Given the description of an element on the screen output the (x, y) to click on. 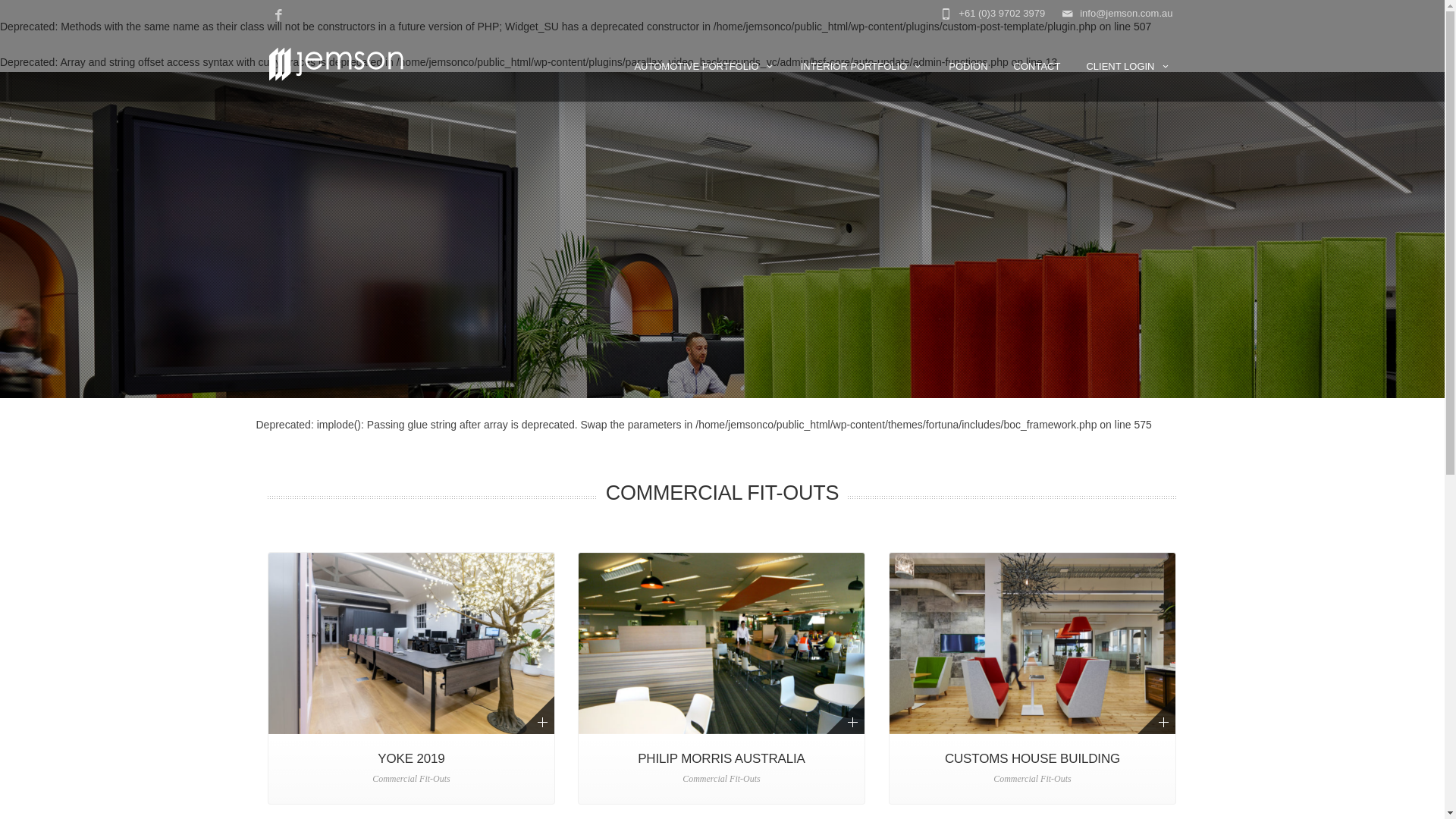
CUSTOMS HOUSE BUILDING
Commercial Fit-Outs Element type: text (1032, 678)
Philip Morris International Fitout Element type: hover (720, 643)
Facebook Element type: hover (277, 14)
YOKE 2019
Commercial Fit-Outs Element type: text (410, 678)
Facebook Element type: hover (1165, 794)
AUTOMOTIVE PORTFOLIO Element type: text (704, 64)
info@jemson.com.au Element type: text (967, 675)
Commercial Fit-Outs Element type: text (658, 695)
PHILIP MORRIS AUSTRALIA
Commercial Fit-Outs Element type: text (721, 678)
Yoke Creative Design Agency Fitout 2019 Element type: hover (411, 643)
CONTACT Element type: text (1037, 64)
CLIENT LOGIN Element type: text (1128, 64)
INTERIOR PORTFOLIO Element type: text (861, 64)
BMW Element type: text (622, 674)
Home Element type: text (623, 654)
PODION Element type: text (967, 64)
Customs House Building Fit-Out Element type: hover (1031, 643)
